Given the description of an element on the screen output the (x, y) to click on. 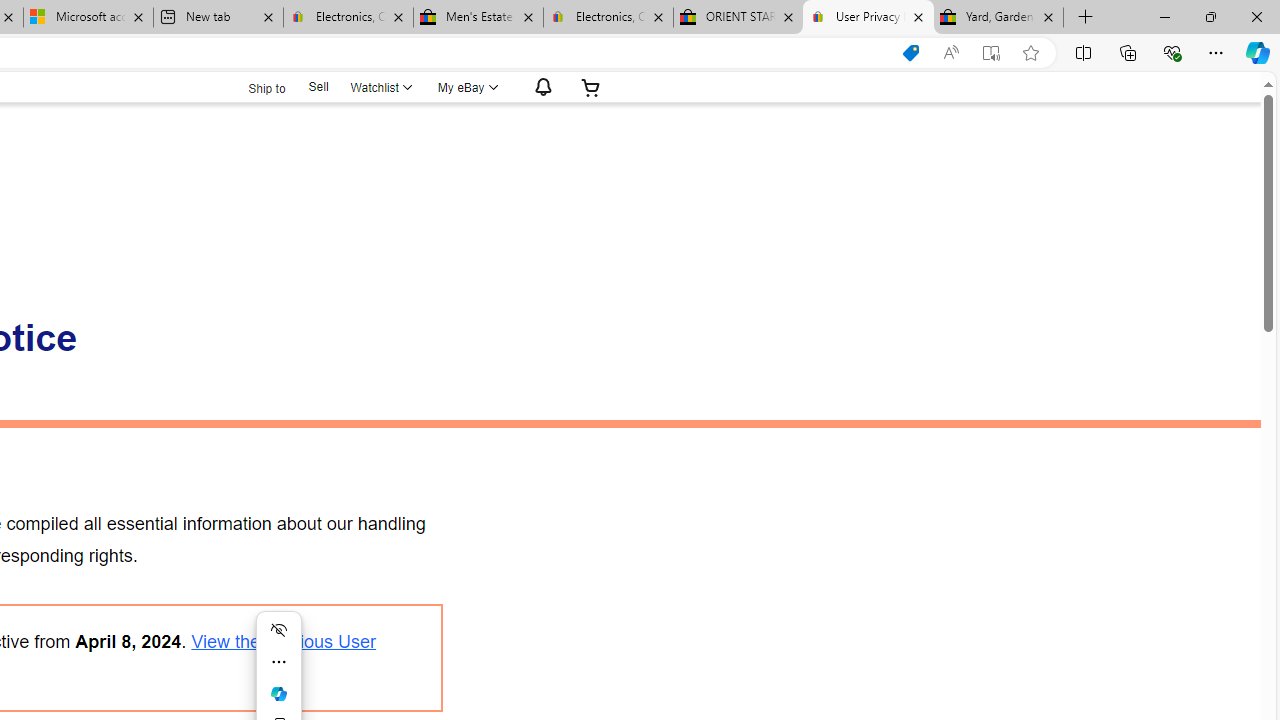
Your shopping cart (591, 87)
Ship to (253, 88)
Expand Cart (591, 87)
WatchlistExpand Watch List (380, 87)
Ask Copilot (278, 693)
Watchlist (380, 87)
